Given the description of an element on the screen output the (x, y) to click on. 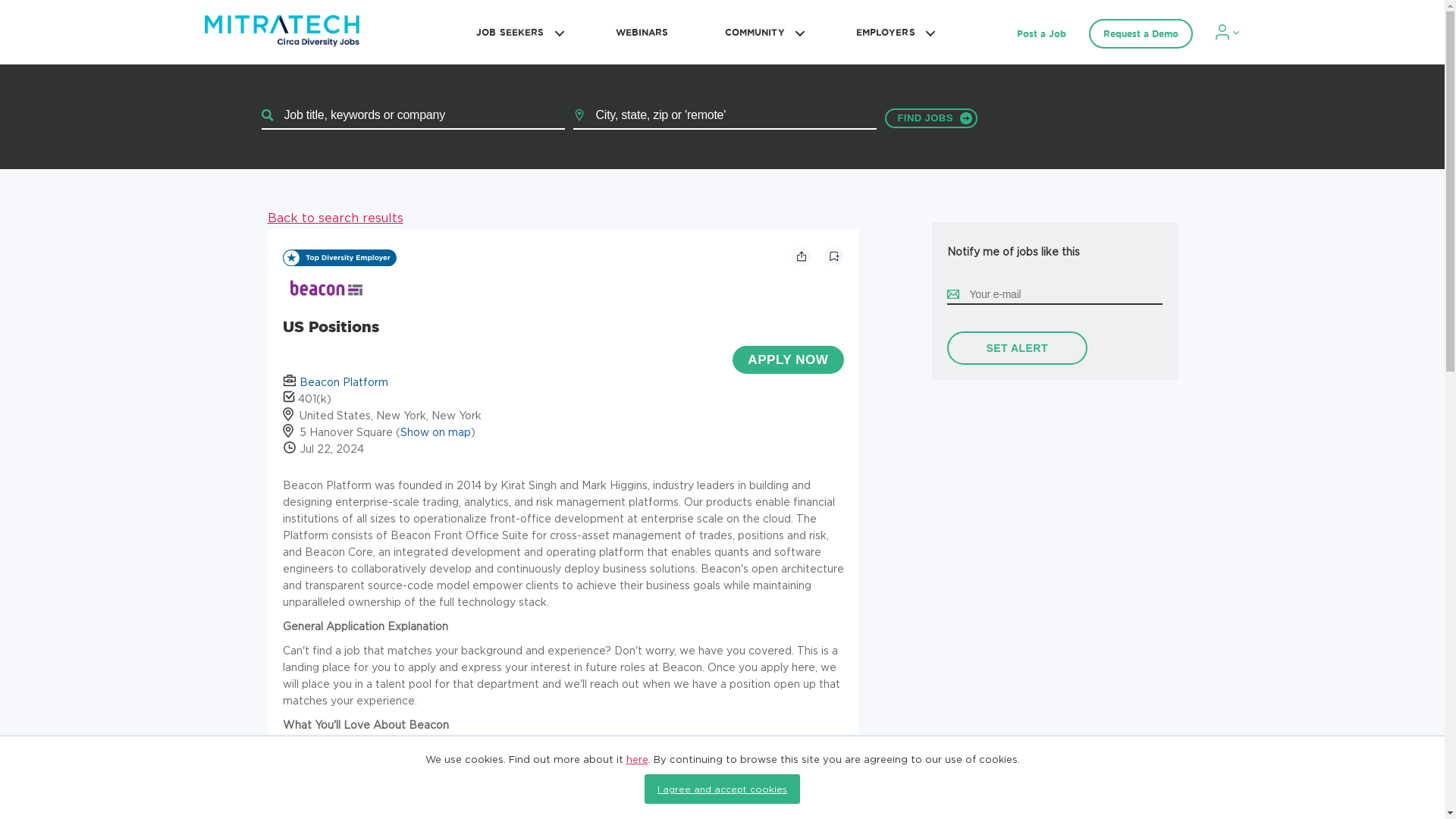
Apply Now (787, 359)
WEBINARS (641, 31)
jobAlert (1019, 347)
Search (929, 117)
here (636, 758)
Set Alert (1016, 347)
City, state, zip or 'remote' (724, 115)
What (412, 115)
JOB SEEKERS (517, 31)
SAVE THIS JOB (833, 256)
COMMUNITY (762, 31)
Job title, keywords or company (412, 115)
Where (724, 115)
EMPLOYERS (893, 31)
Apply Now (787, 359)
